Given the description of an element on the screen output the (x, y) to click on. 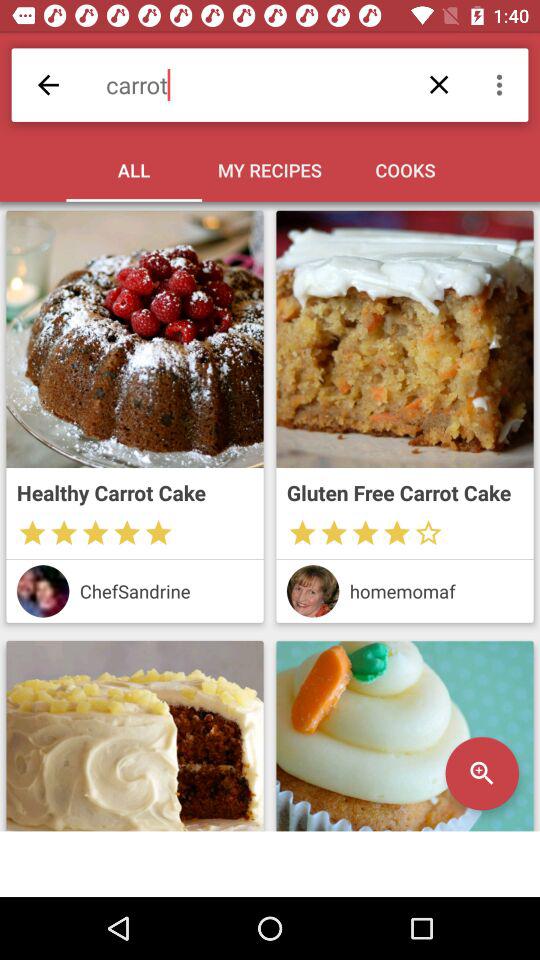
choose recipe (134, 339)
